Given the description of an element on the screen output the (x, y) to click on. 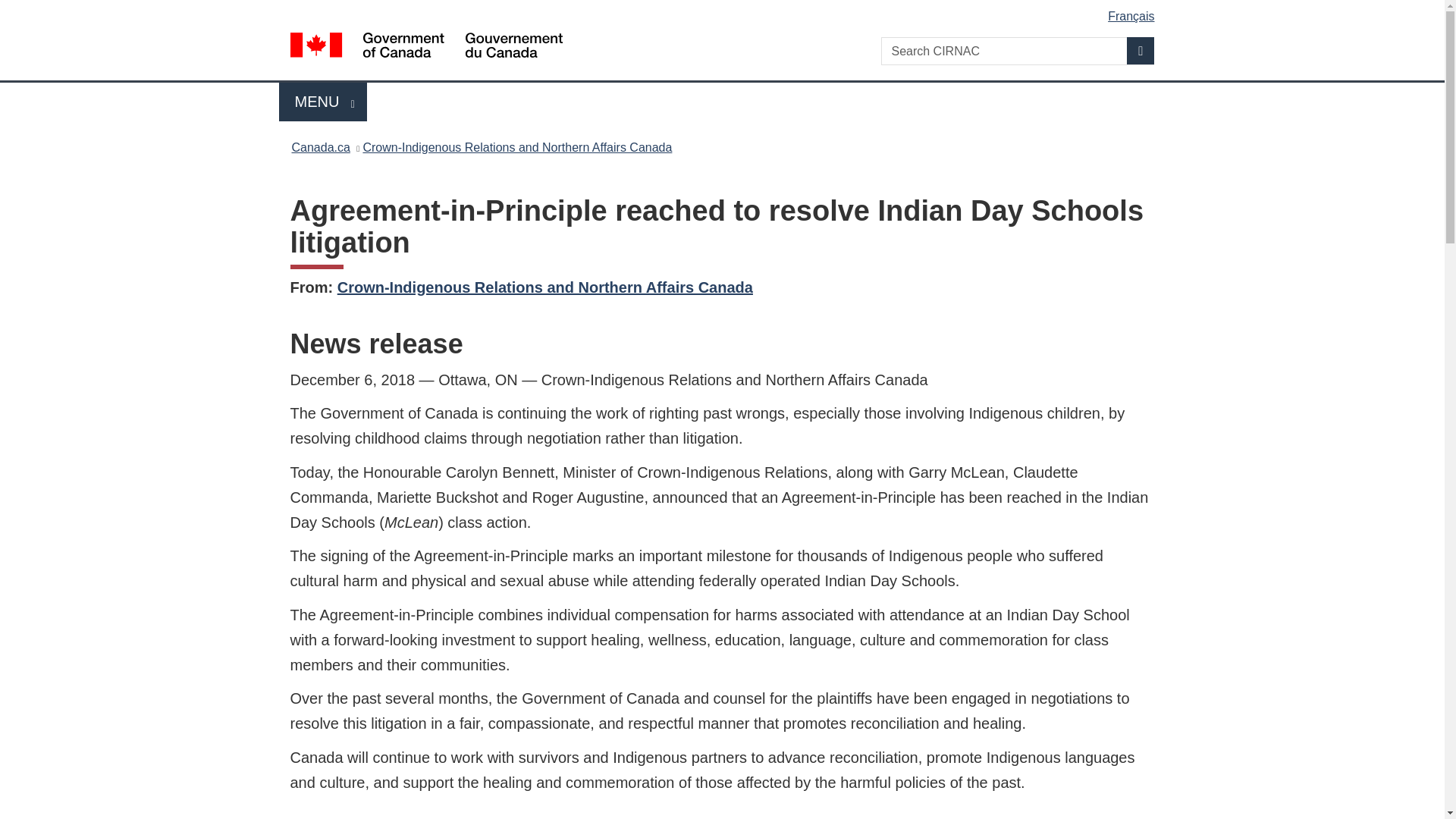
Crown-Indigenous Relations and Northern Affairs Canada (516, 147)
Search (322, 101)
Crown-Indigenous Relations and Northern Affairs Canada (1140, 50)
Skip to main content (544, 287)
Canada.ca (725, 11)
